Given the description of an element on the screen output the (x, y) to click on. 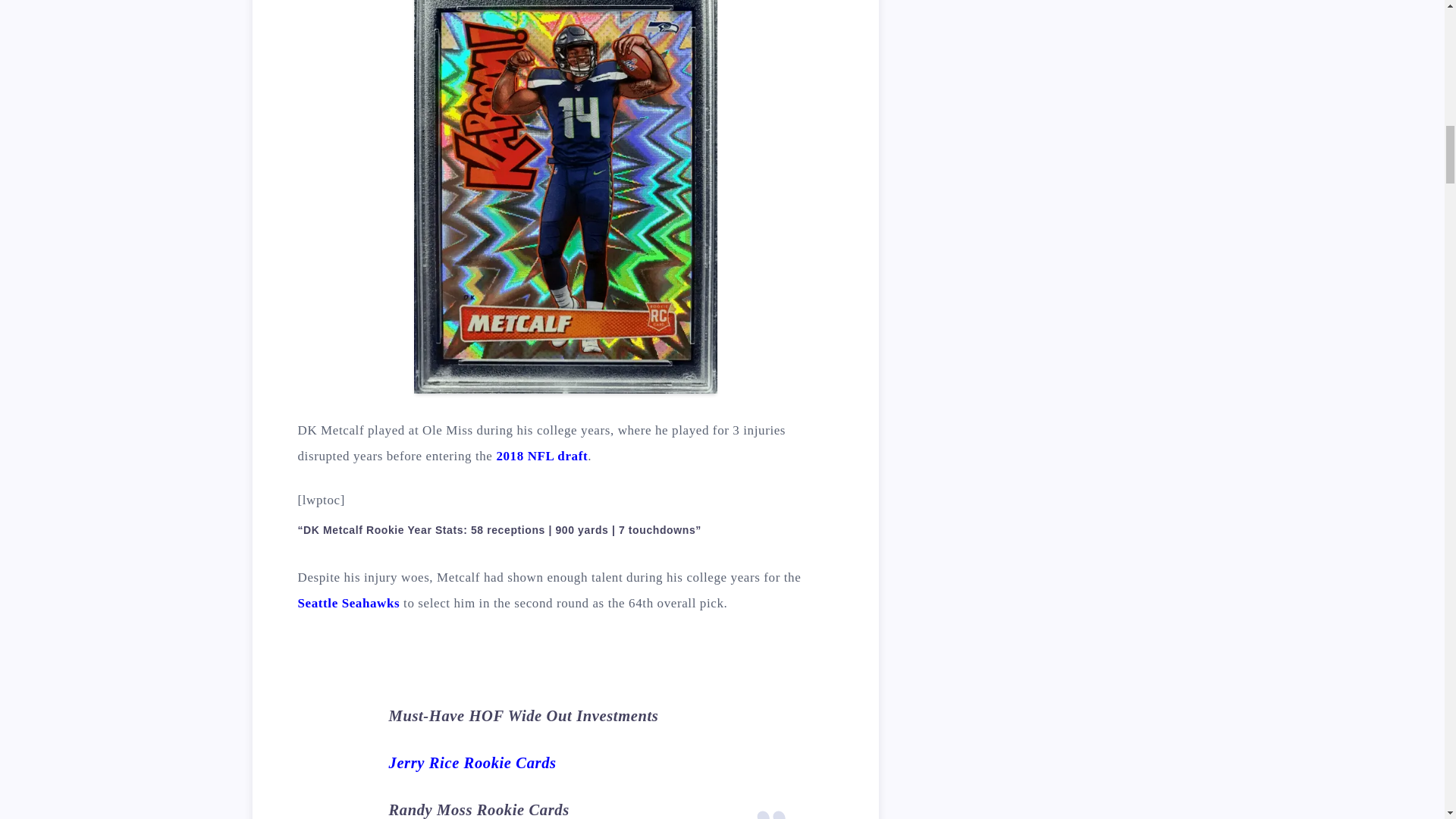
2018 NFL draft (542, 455)
Seattle Seahawks (347, 603)
Randy Moss Rookie Cards (478, 809)
Jerry Rice Rookie Cards (472, 762)
